Given the description of an element on the screen output the (x, y) to click on. 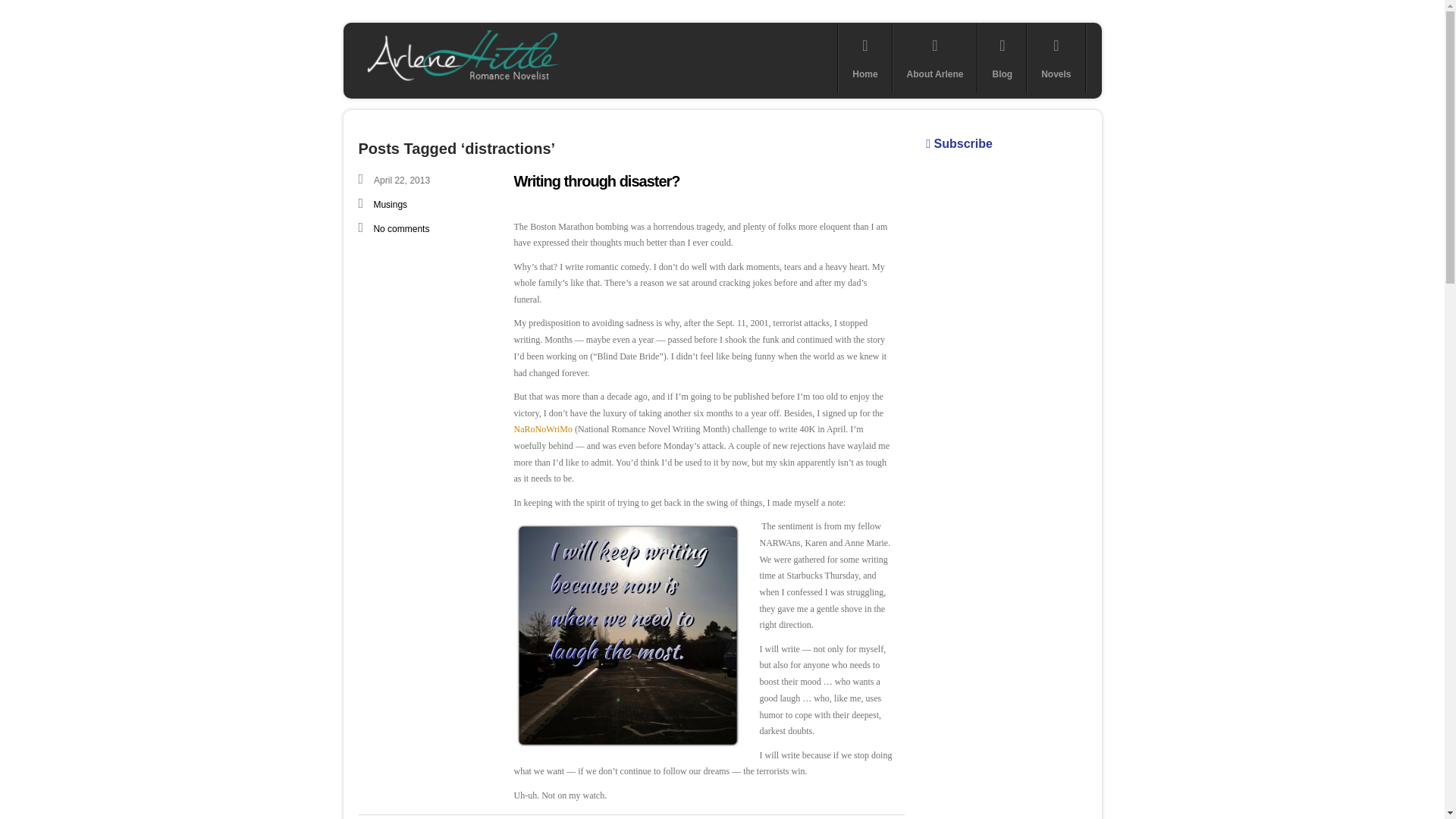
NaRoNoWriMo (543, 429)
About Arlene (935, 57)
Musings (389, 204)
Keep Writing (627, 635)
No comments (400, 228)
Arlene Hittle (460, 83)
Writing through disaster? (596, 180)
